Given the description of an element on the screen output the (x, y) to click on. 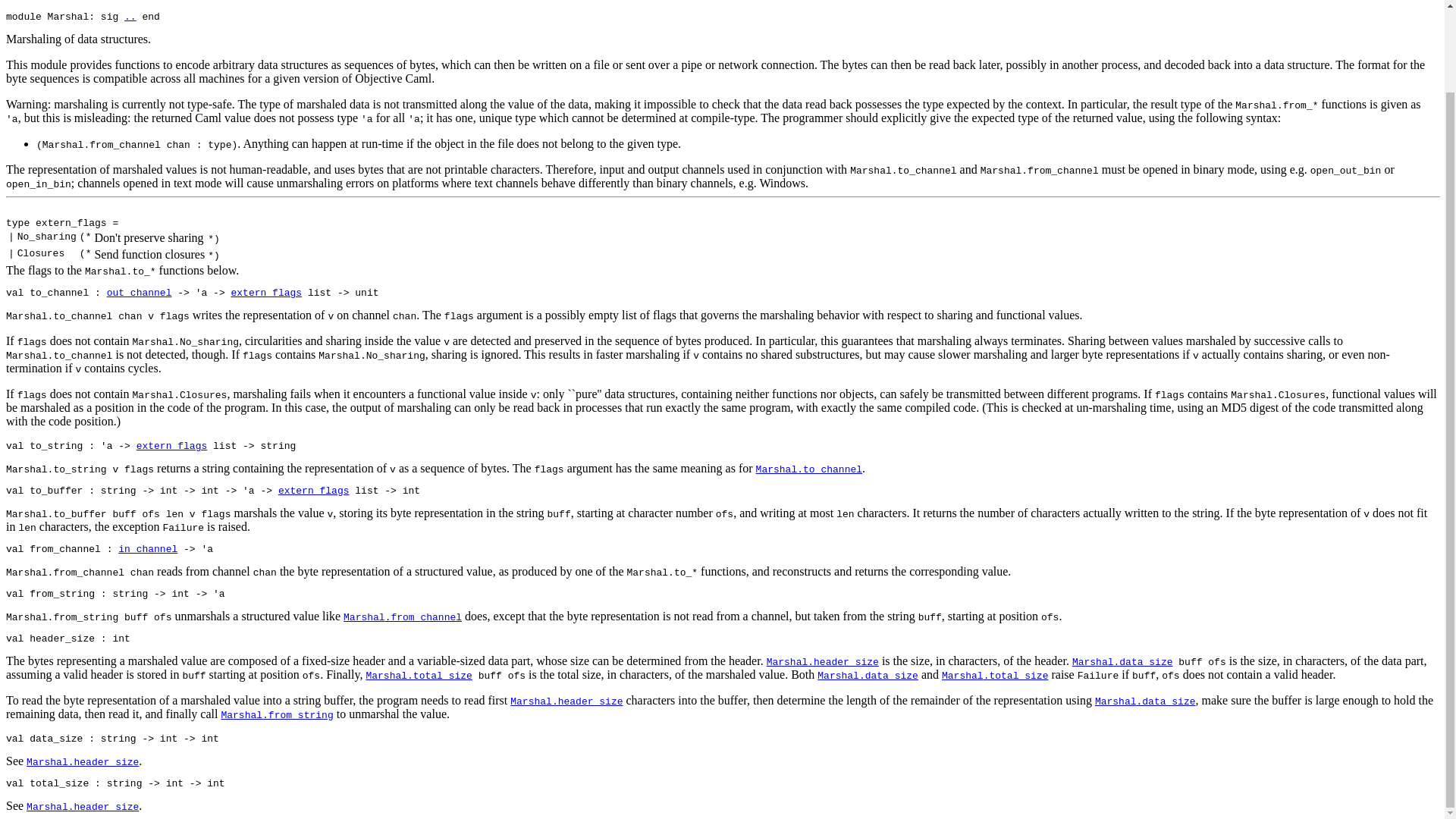
.. (129, 16)
